Given the description of an element on the screen output the (x, y) to click on. 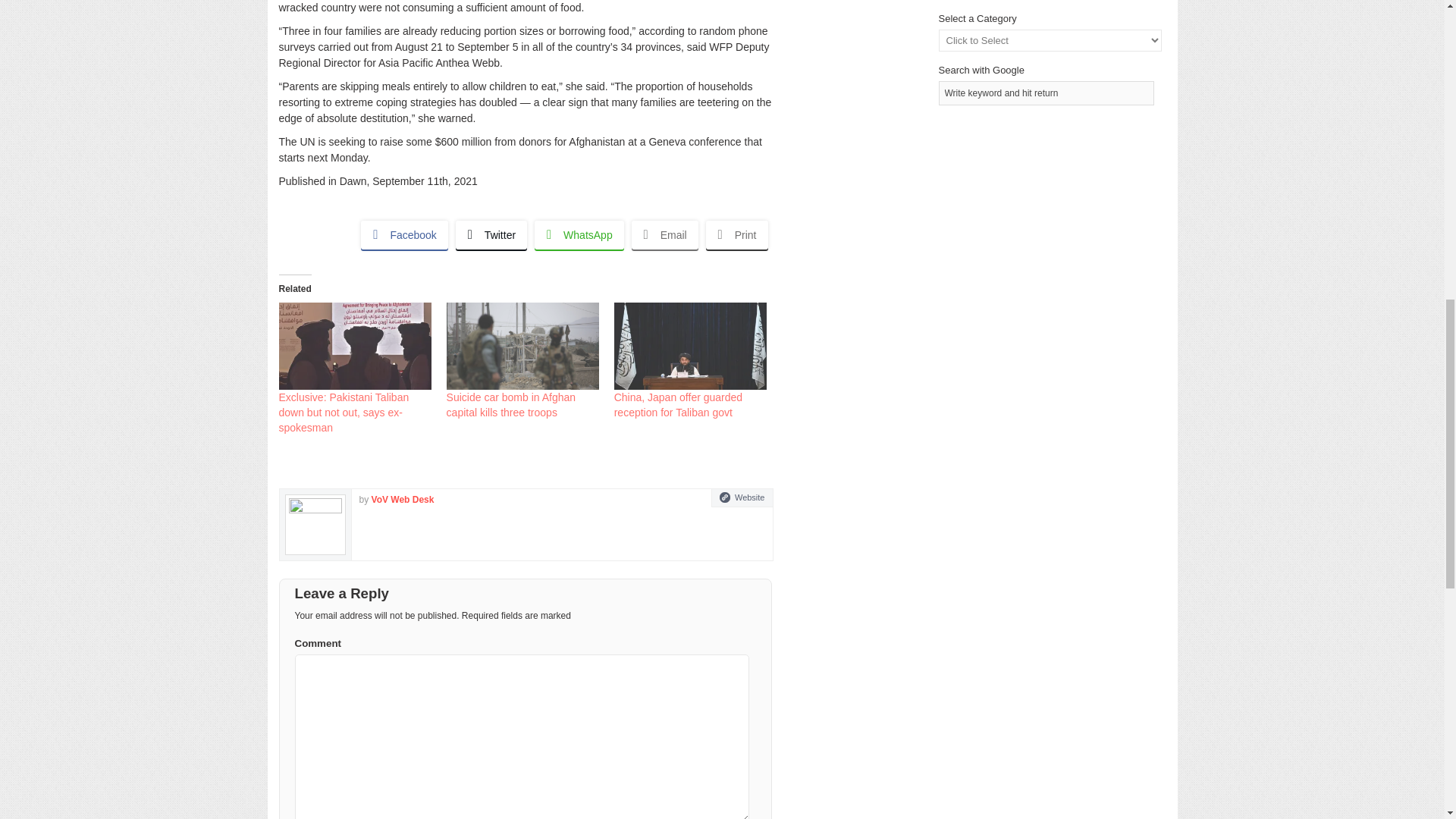
WhatsApp (579, 234)
Twitter (491, 234)
Email (664, 234)
Facebook (403, 234)
Write keyword and hit return (1046, 93)
